Given the description of an element on the screen output the (x, y) to click on. 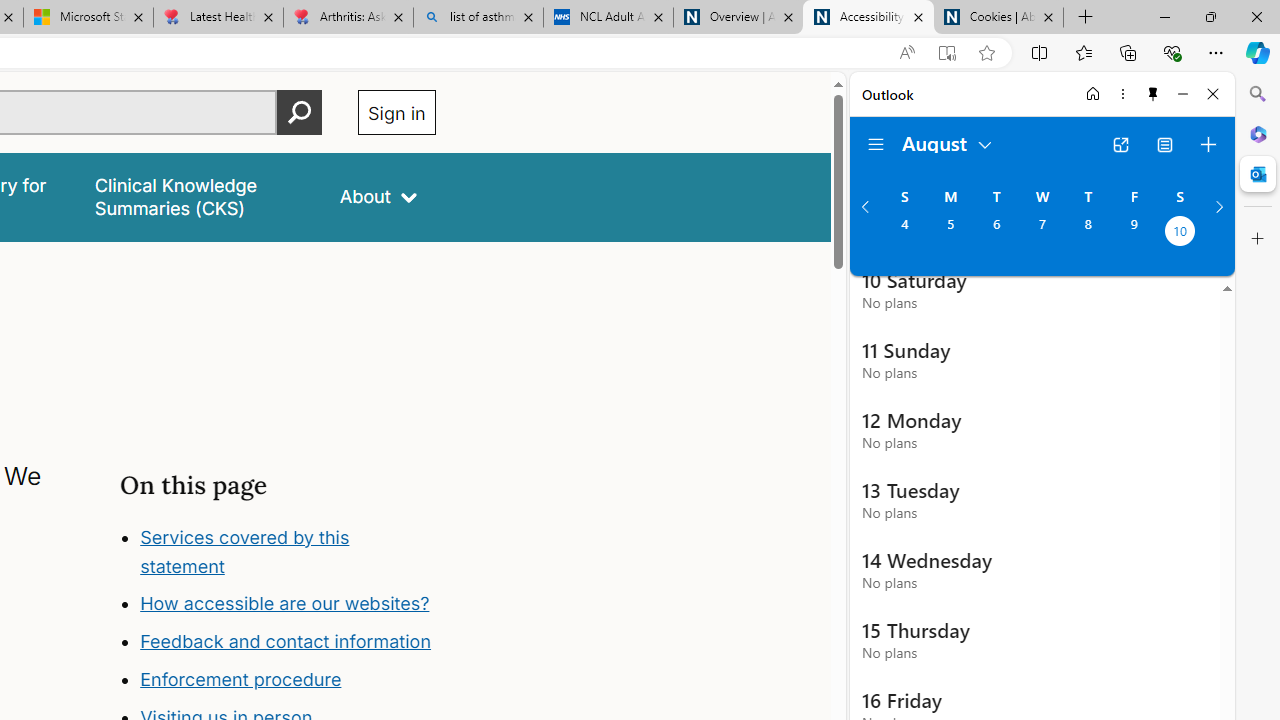
Accessibility | NICE (868, 17)
About (378, 196)
Arthritis: Ask Health Professionals (348, 17)
false (198, 196)
Cookies | About | NICE (998, 17)
Thursday, August 8, 2024.  (1088, 233)
View Switcher. Current view is Agenda view (1165, 144)
Wednesday, August 7, 2024.  (1042, 233)
How accessible are our websites? (284, 603)
